Given the description of an element on the screen output the (x, y) to click on. 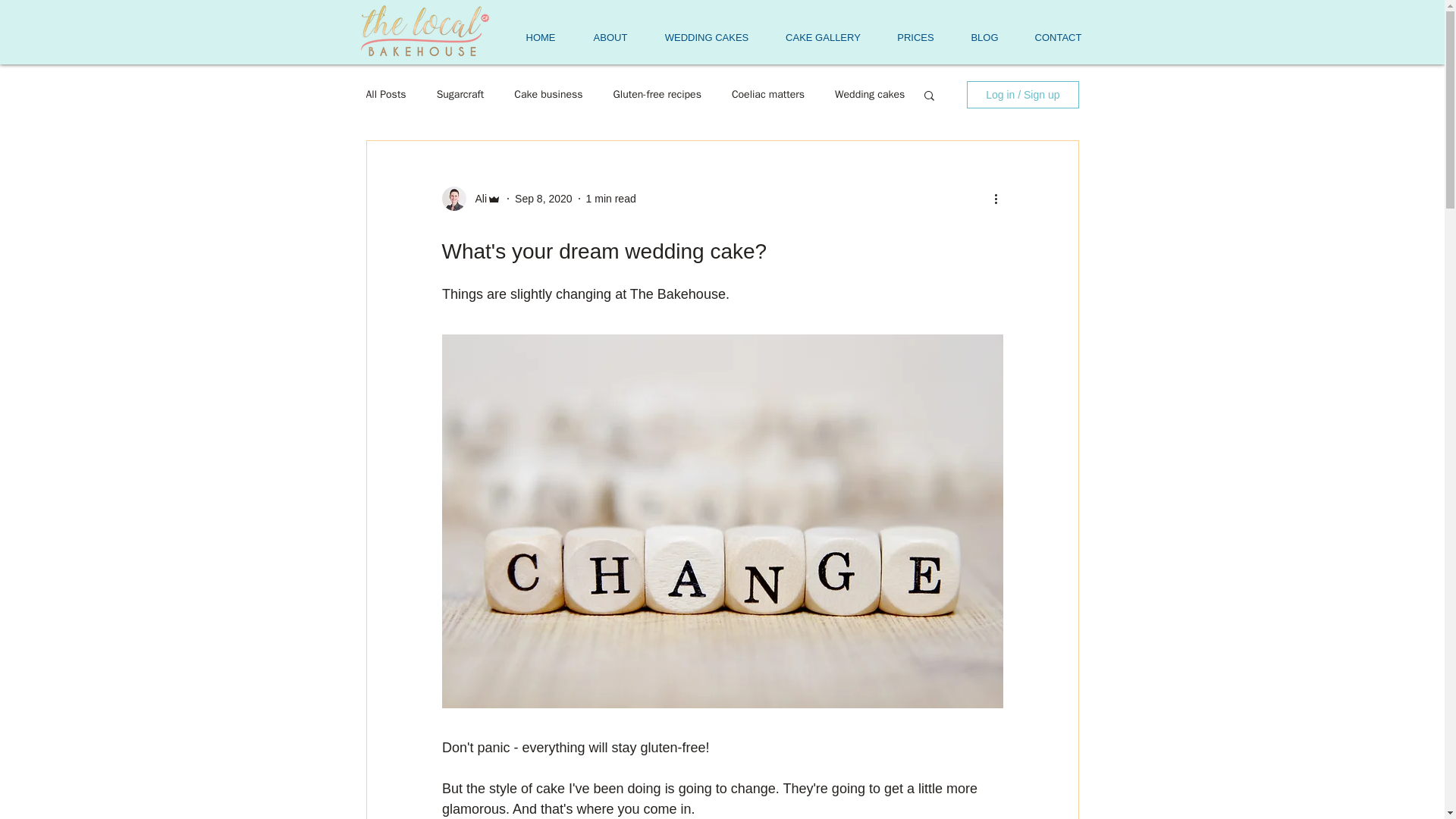
Coeliac matters (768, 94)
Sep 8, 2020 (543, 198)
HOME (539, 37)
CONTACT (1058, 37)
Wedding cakes (869, 94)
Cake business (547, 94)
Ali (475, 198)
CAKE GALLERY (823, 37)
All Posts (385, 94)
WEDDING CAKES (706, 37)
